Given the description of an element on the screen output the (x, y) to click on. 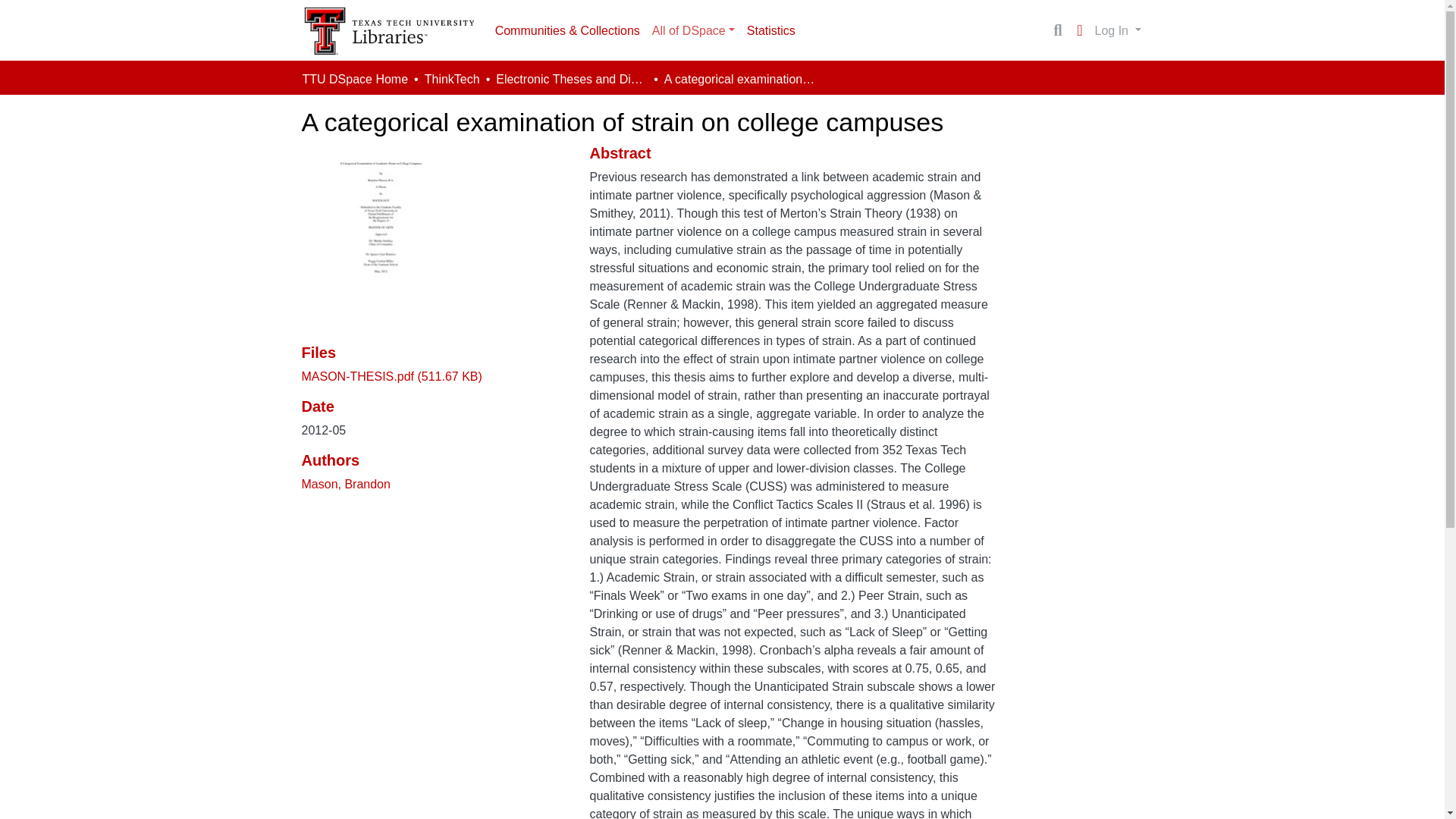
Statistics (771, 30)
Electronic Theses and Dissertations (571, 79)
Statistics (771, 30)
All of DSpace (693, 30)
ThinkTech (452, 79)
Mason, Brandon (345, 483)
Log In (1117, 30)
Language switch (1079, 30)
TTU DSpace Home (354, 79)
Search (1057, 30)
